Given the description of an element on the screen output the (x, y) to click on. 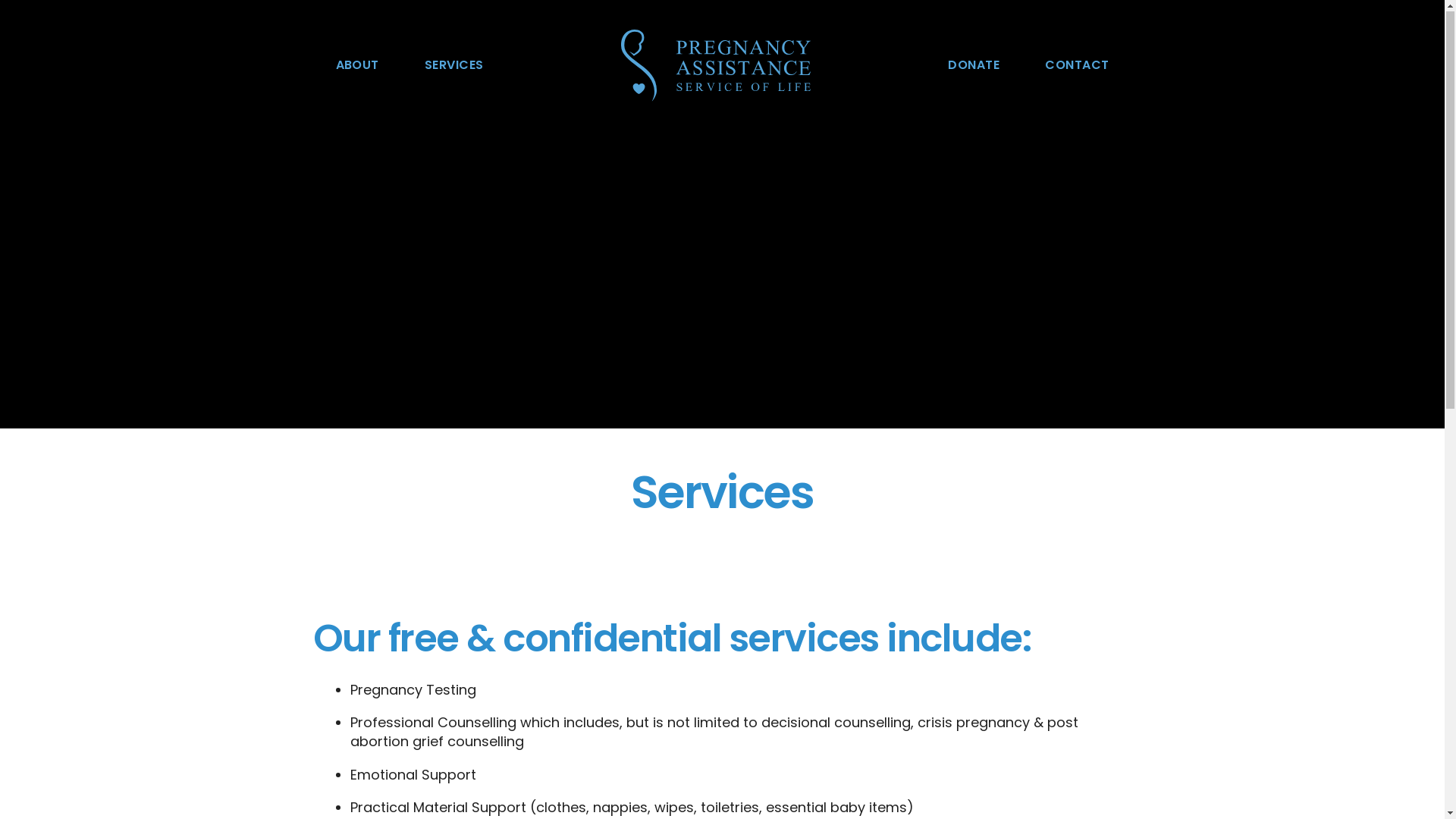
ABOUT Element type: text (356, 65)
CONTACT Element type: text (1076, 65)
SERVICES Element type: text (453, 65)
DONATE Element type: text (973, 65)
